Given the description of an element on the screen output the (x, y) to click on. 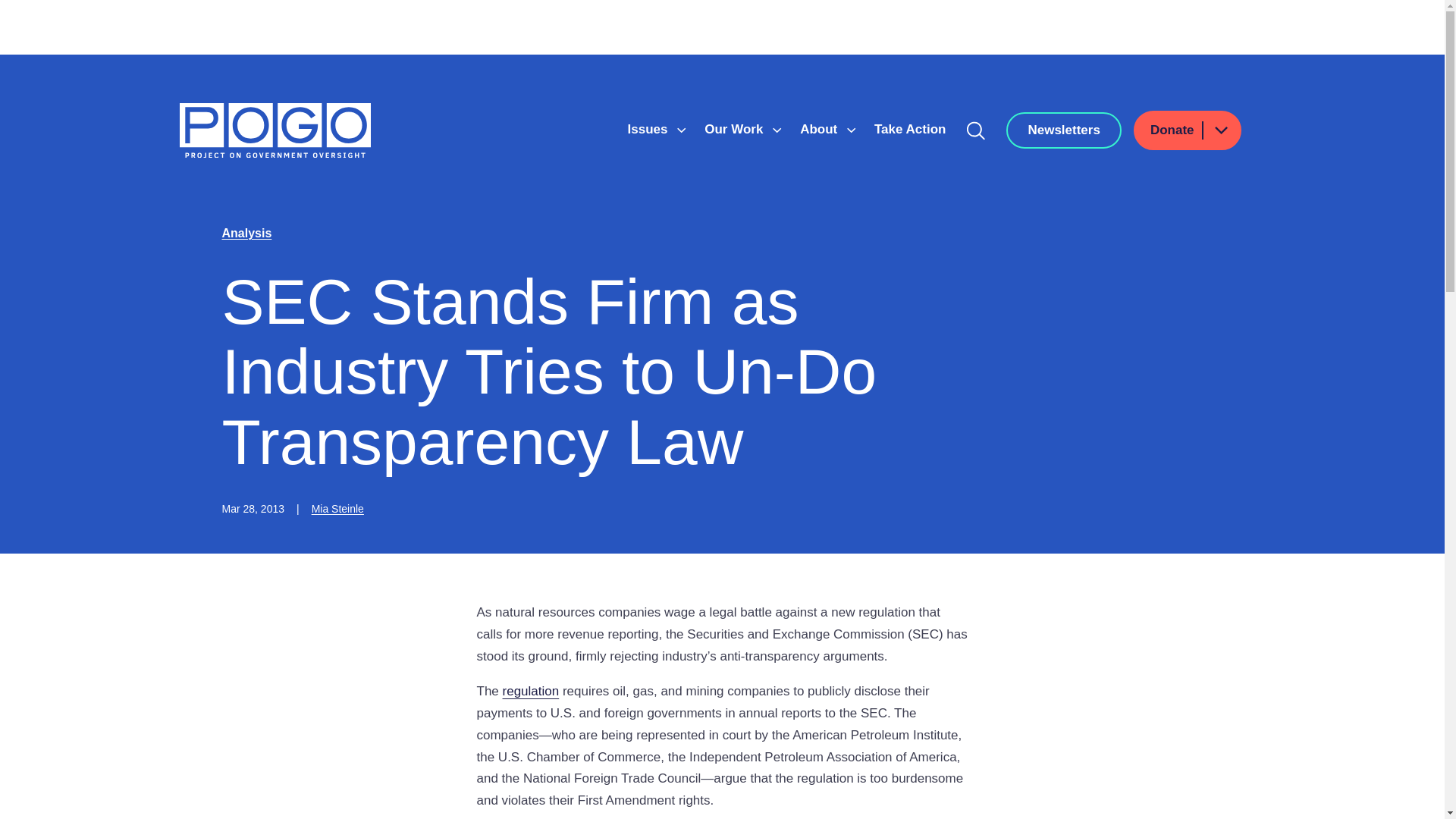
Show submenu for Issues (681, 130)
About (820, 129)
Search (976, 130)
Our Work (735, 129)
Issues (649, 129)
Show submenu for Donate (1220, 129)
Show submenu for About (851, 130)
Newsletters (1063, 130)
Home (274, 130)
Take Action (909, 129)
Show submenu for Our Work (777, 130)
Donate (1187, 130)
